Given the description of an element on the screen output the (x, y) to click on. 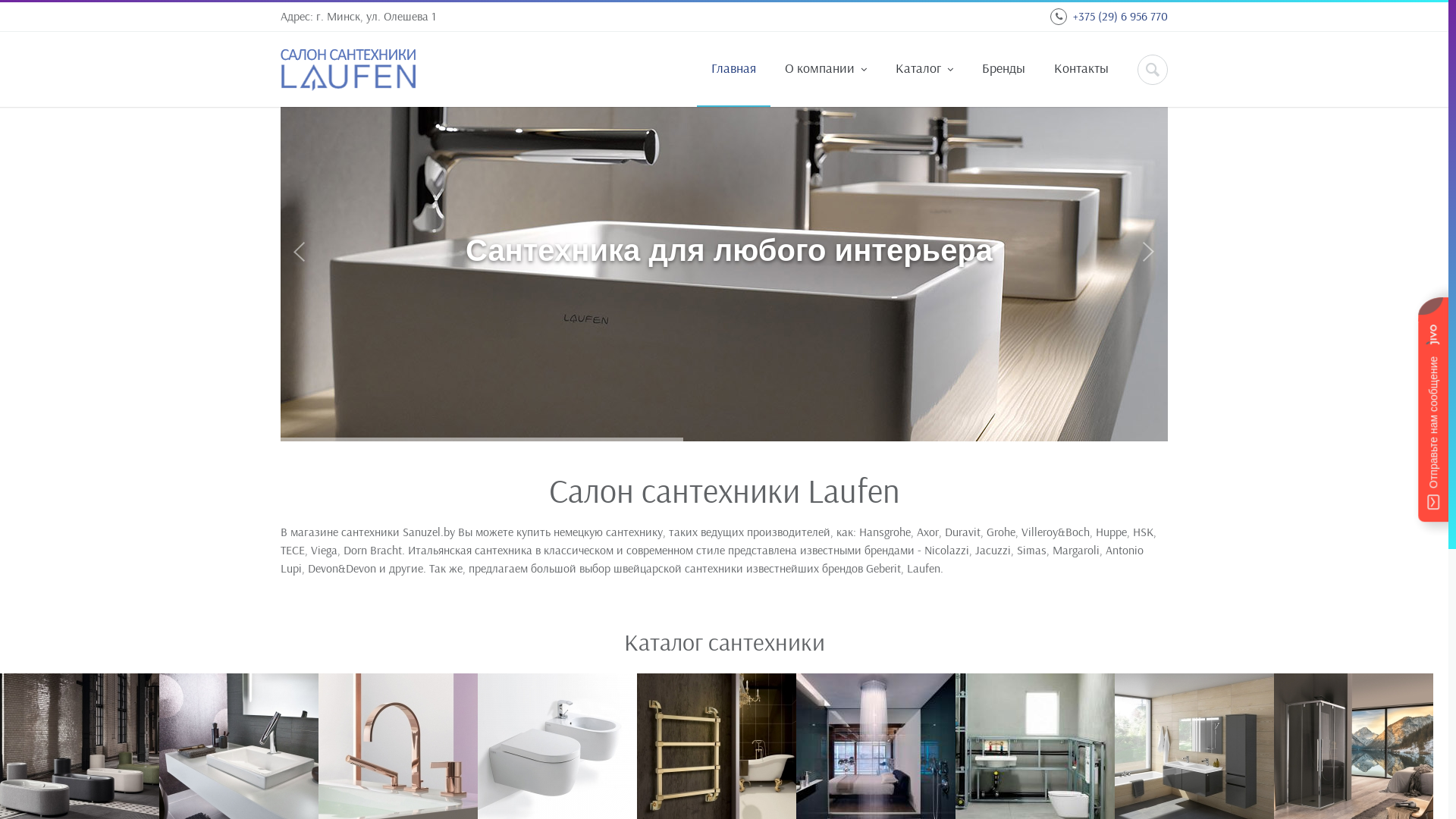
+375 (29) 6 956 770 Element type: text (1120, 15)
